Given the description of an element on the screen output the (x, y) to click on. 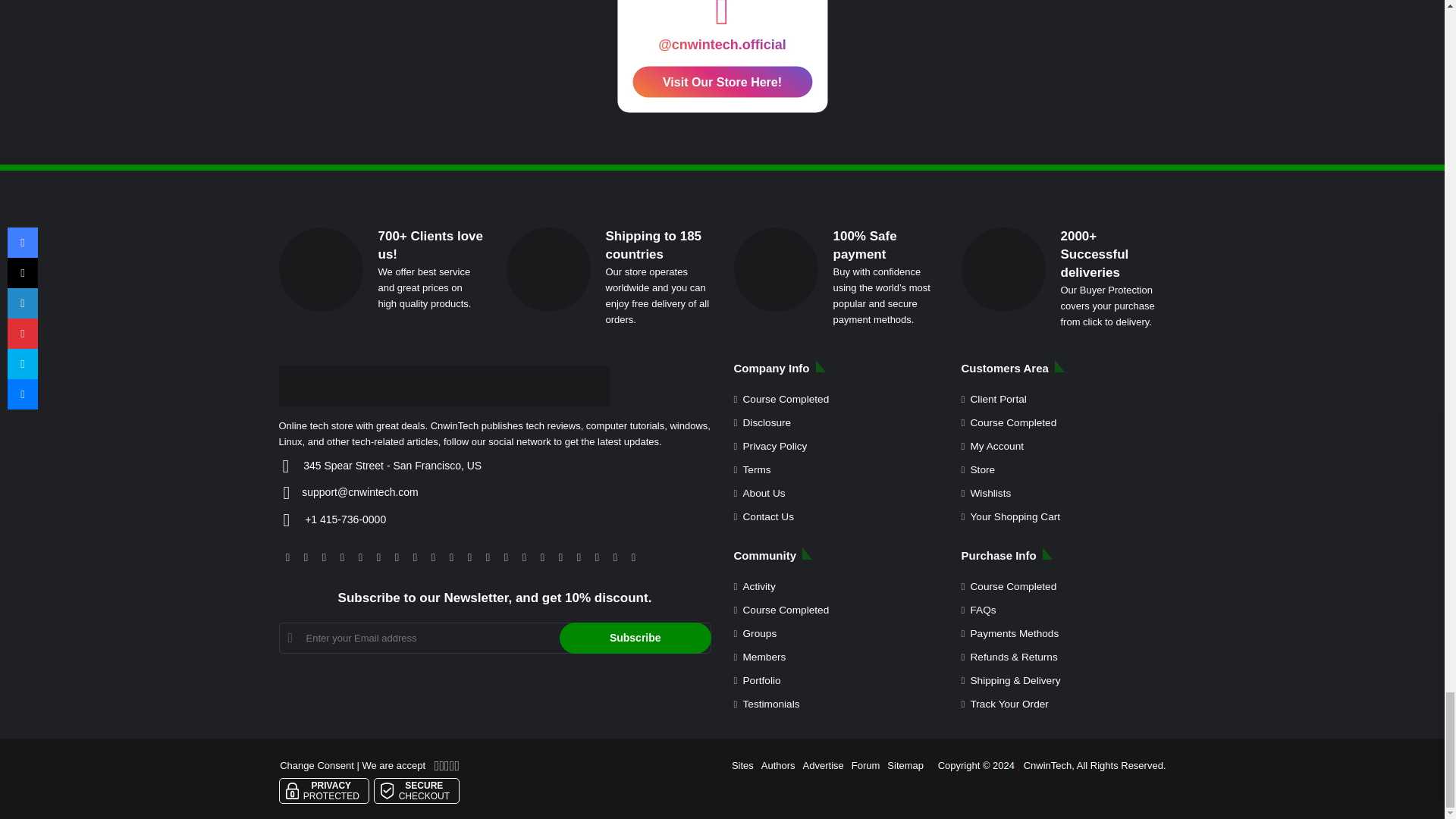
Subscribe (635, 637)
